Given the description of an element on the screen output the (x, y) to click on. 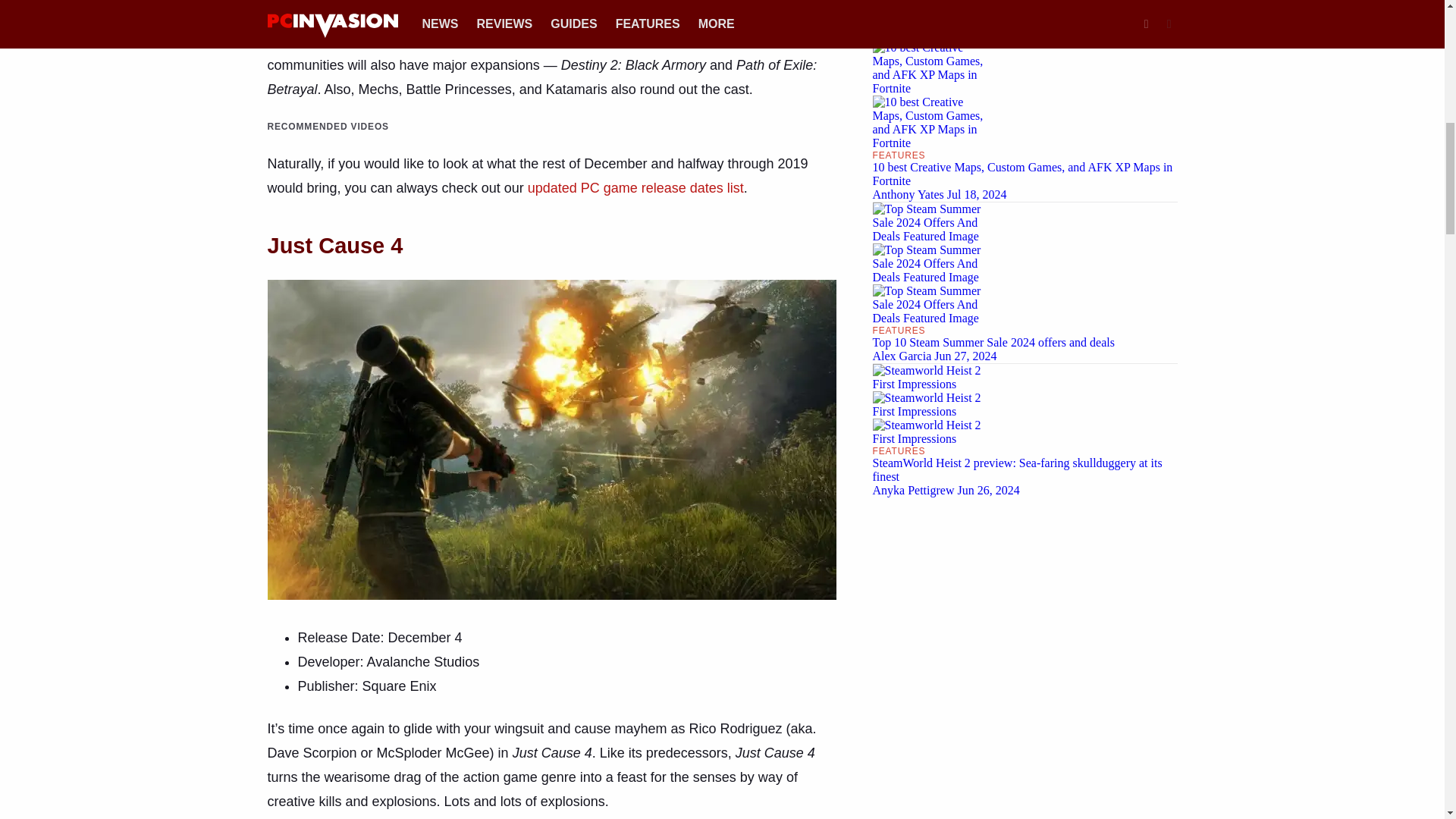
updated PC game release dates list (635, 187)
